Given the description of an element on the screen output the (x, y) to click on. 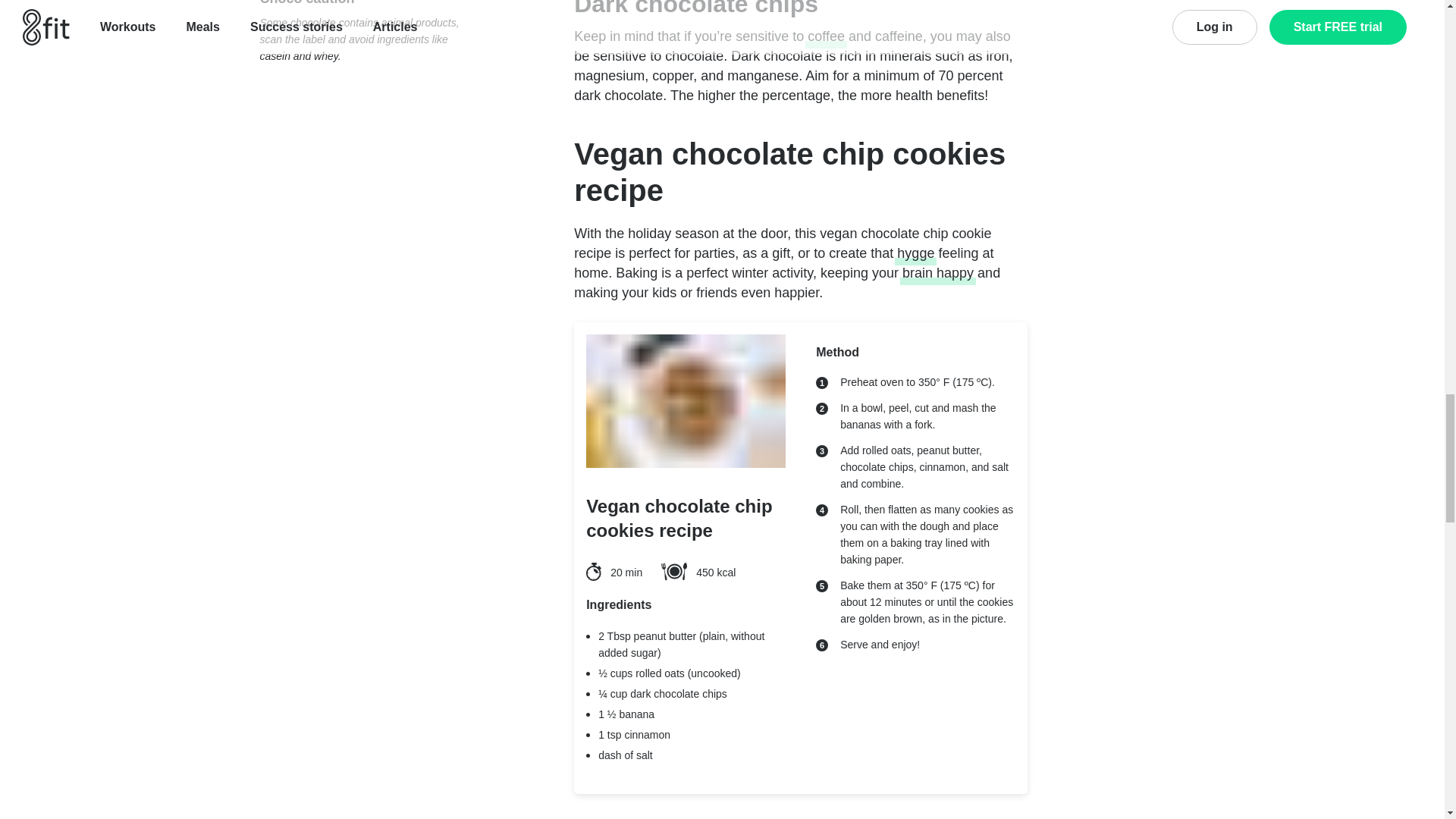
hygge (915, 252)
coffee (826, 35)
brain happy (938, 272)
